Given the description of an element on the screen output the (x, y) to click on. 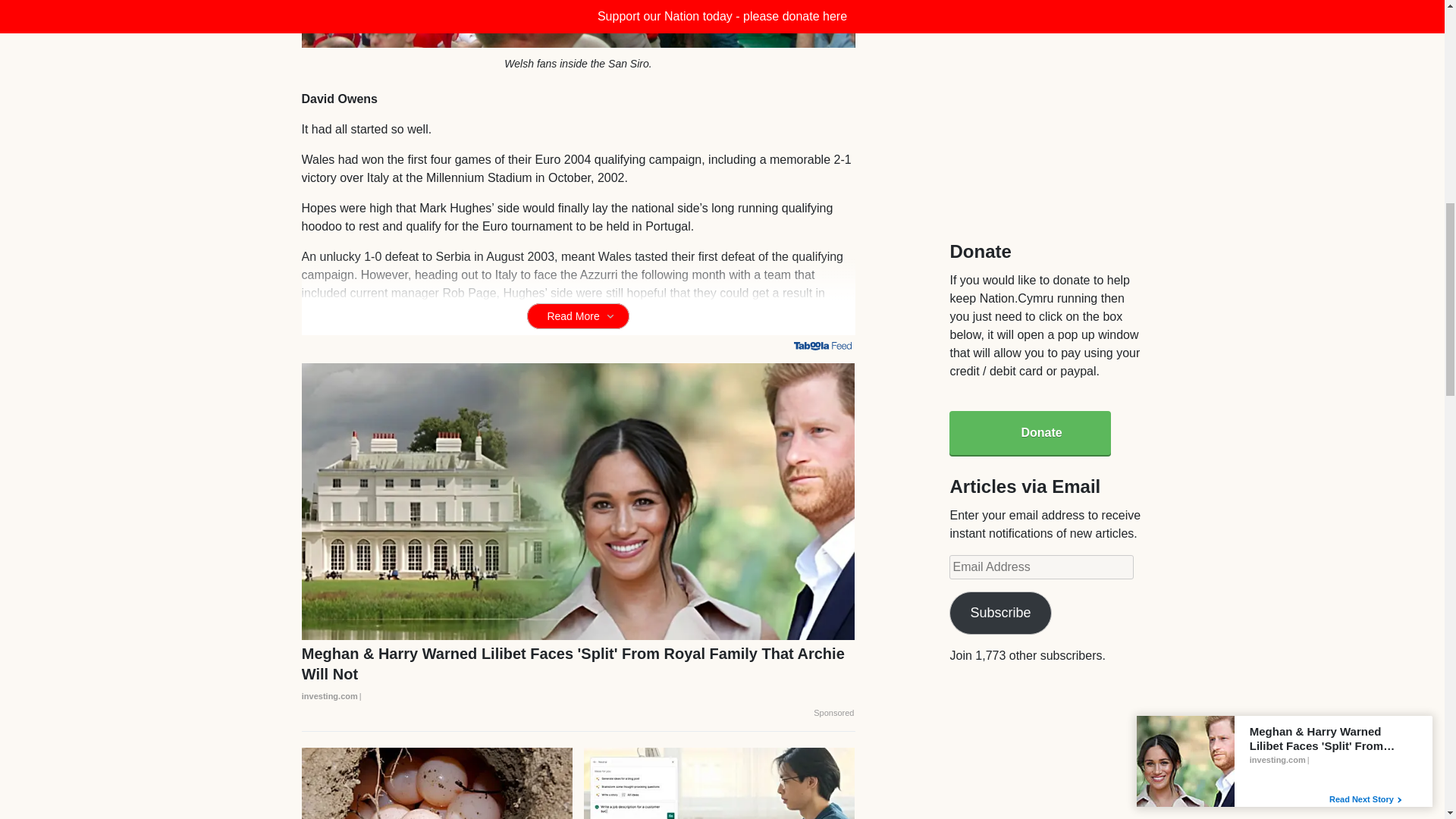
Read More (577, 316)
Sponsored (833, 713)
